Given the description of an element on the screen output the (x, y) to click on. 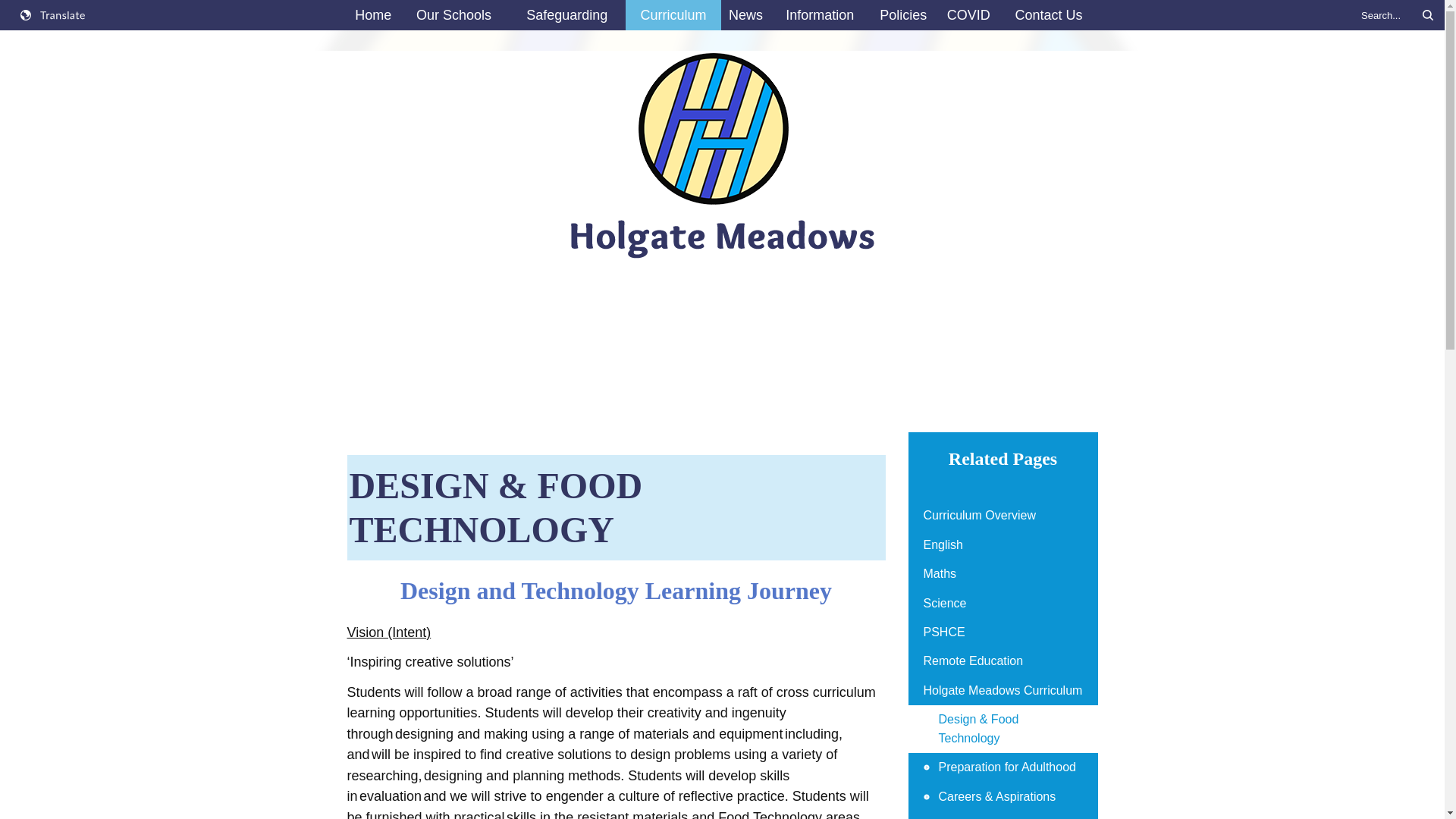
Safeguarding (567, 15)
Information (819, 15)
News (745, 15)
Search... (1395, 15)
Our Schools (453, 15)
Curriculum (673, 15)
Home (372, 15)
